Given the description of an element on the screen output the (x, y) to click on. 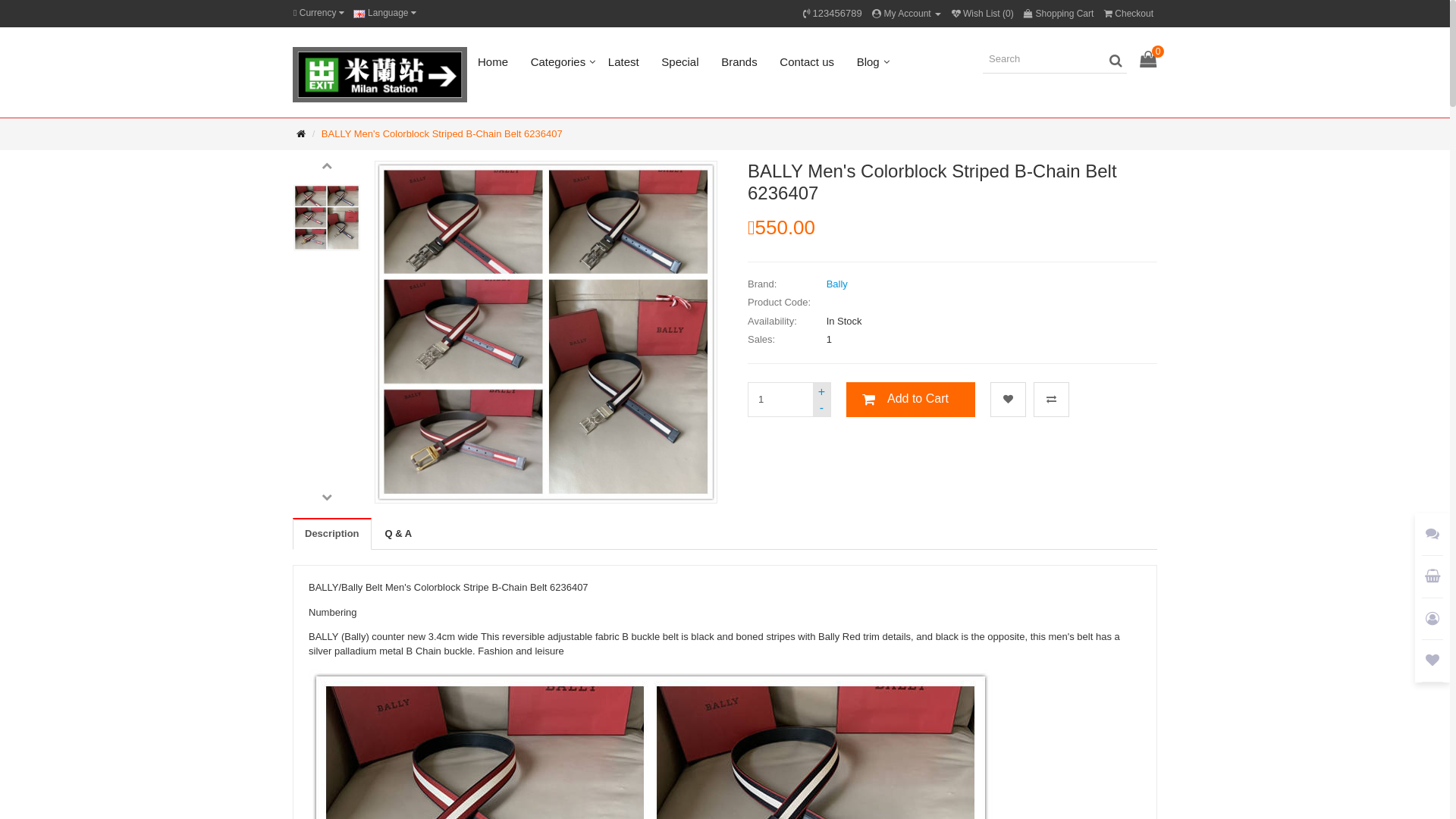
My Account Element type: text (906, 13)
Special Element type: text (679, 62)
Wish List (0) Element type: text (982, 13)
Latest Element type: text (623, 62)
English Element type: hover (359, 13)
Categories Element type: text (558, 62)
Bally Element type: text (836, 283)
Blog Element type: text (868, 62)
Home Element type: text (492, 62)
Q & A Element type: text (398, 533)
Contact us Element type: text (806, 62)
BALLY Men's Colorblock Striped B-Chain Belt 6236407 Element type: hover (326, 217)
+ Element type: text (821, 391)
Language  Element type: text (384, 13)
Add to Cart Element type: text (910, 399)
- Element type: text (821, 407)
Description Element type: text (331, 533)
Brands Element type: text (739, 62)
BALLY Men's Colorblock Striped B-Chain Belt 6236407 Element type: text (441, 133)
Shopping Cart Element type: text (1058, 13)
Checkout Element type: text (1128, 13)
